Given the description of an element on the screen output the (x, y) to click on. 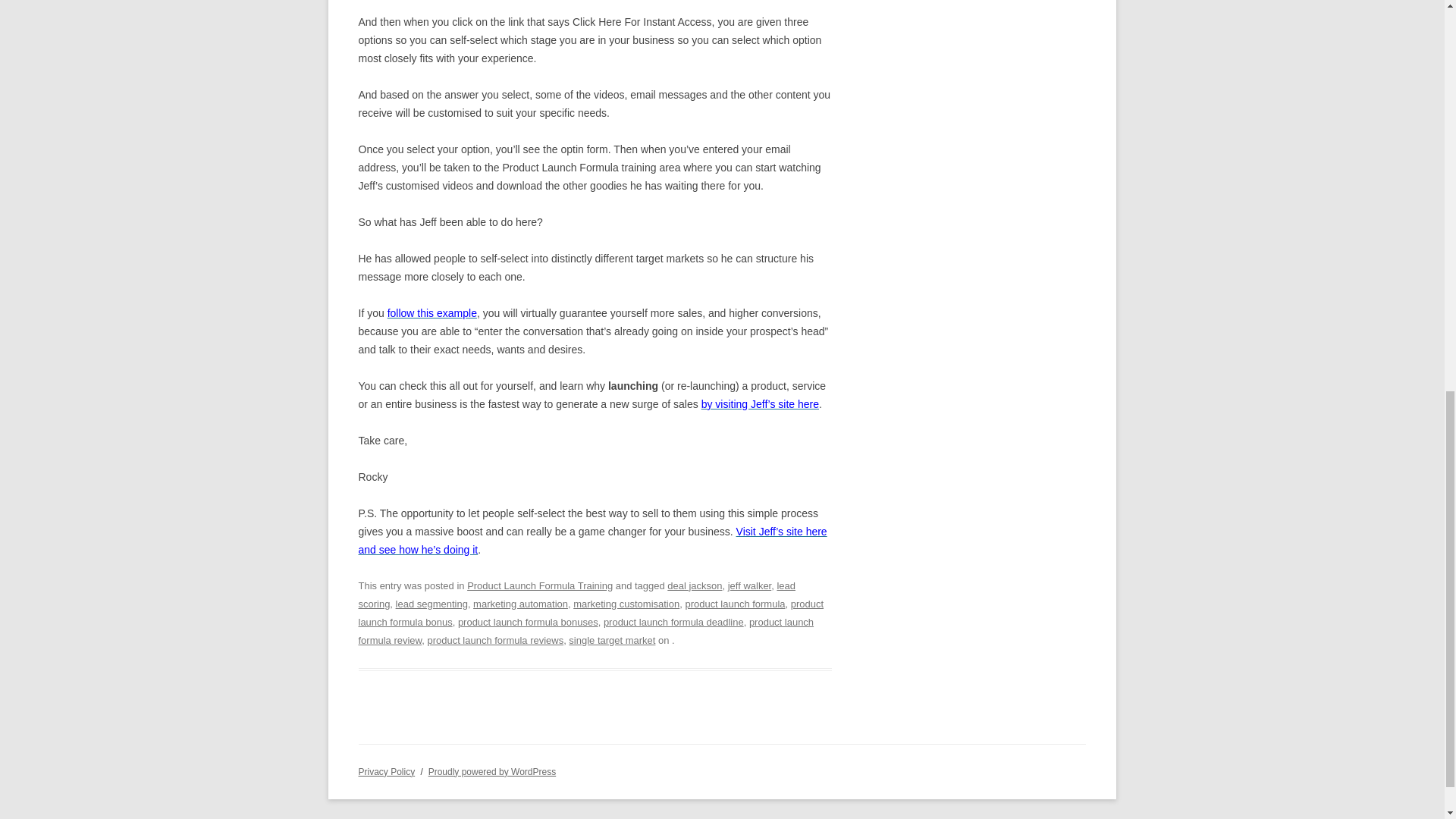
Semantic Personal Publishing Platform (492, 771)
